Given the description of an element on the screen output the (x, y) to click on. 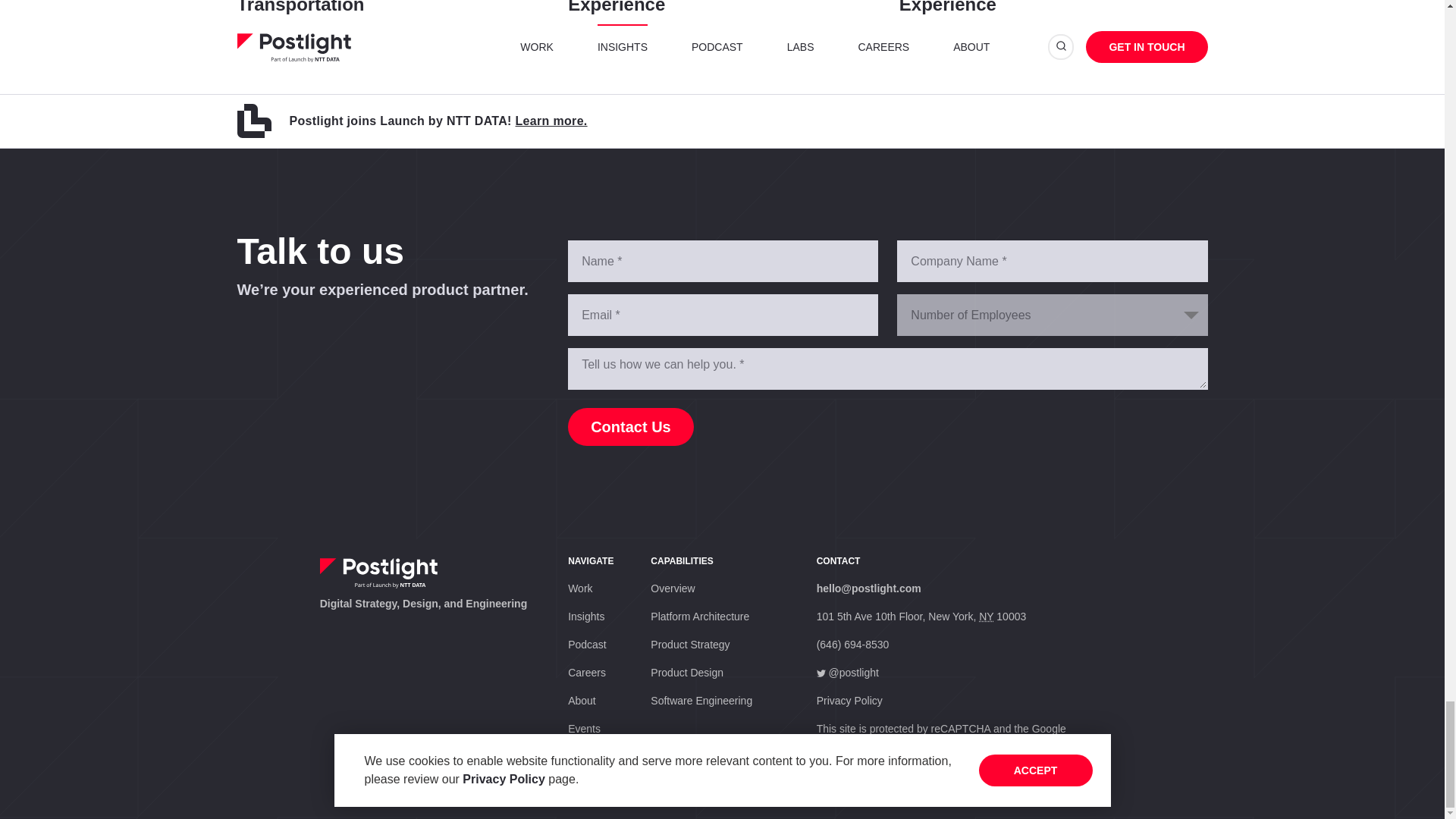
New York (1053, 19)
